Given the description of an element on the screen output the (x, y) to click on. 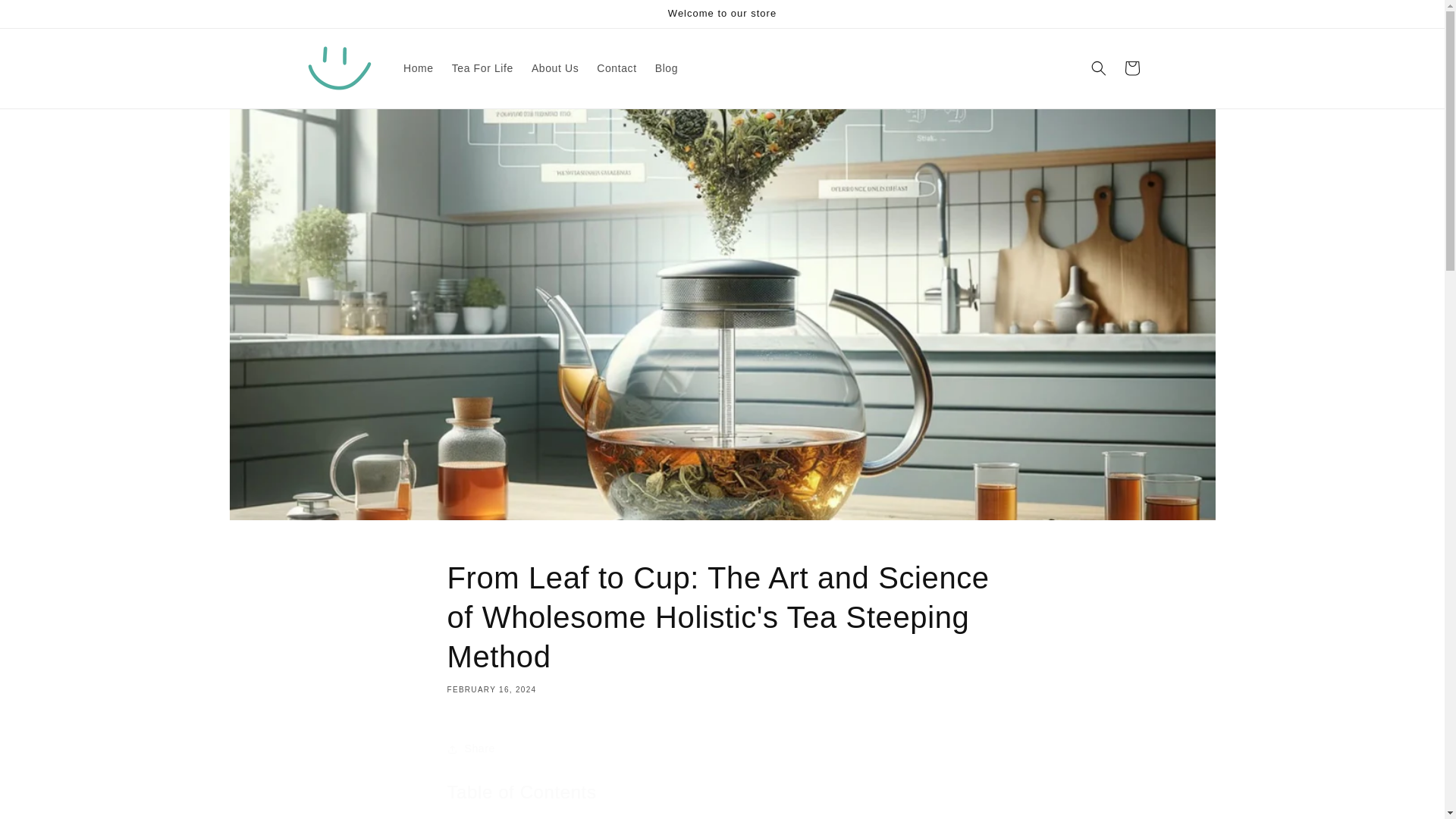
Tea For Life (482, 68)
About Us (555, 68)
Home (418, 68)
Cart (1131, 68)
Share (721, 748)
Blog (666, 68)
Contact (616, 68)
Skip to content (45, 17)
